Given the description of an element on the screen output the (x, y) to click on. 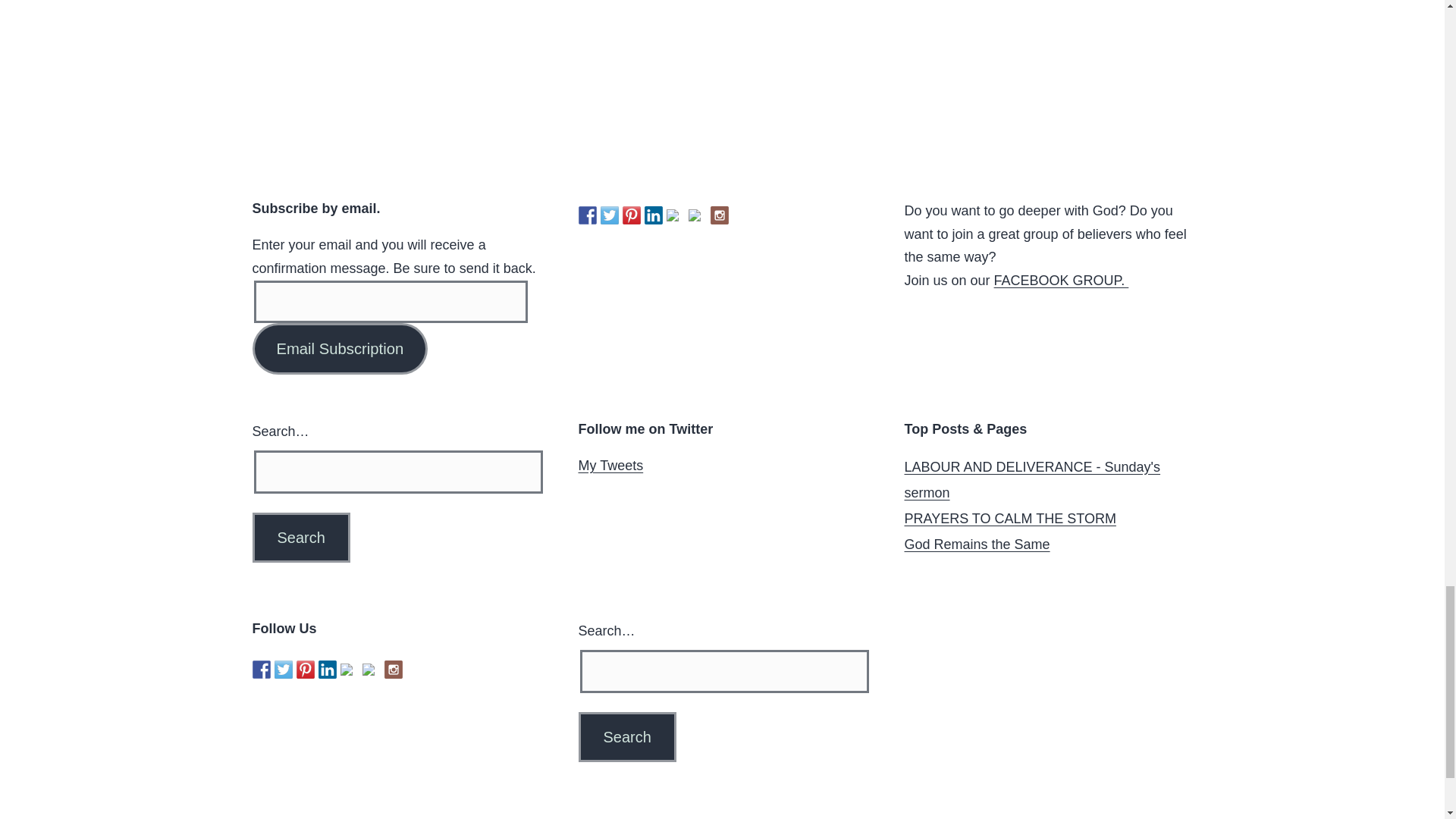
Search (626, 736)
Email Subscription (339, 347)
Search (300, 537)
Search (626, 736)
Search (300, 537)
